Given the description of an element on the screen output the (x, y) to click on. 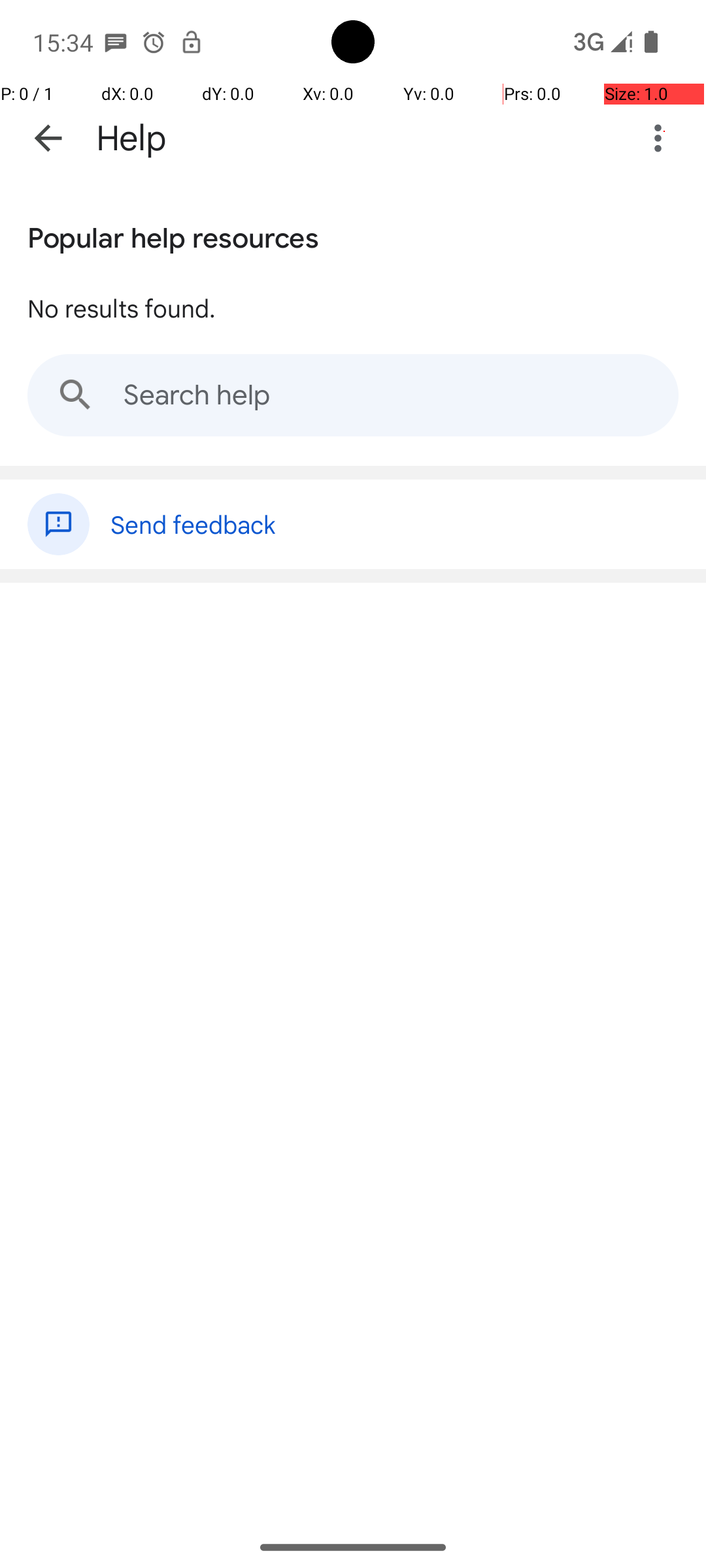
Popular help resources Element type: android.widget.TextView (173, 235)
Search help Element type: androidx.cardview.widget.CardView (352, 395)
No results found. Element type: android.widget.TextView (121, 307)
